Given the description of an element on the screen output the (x, y) to click on. 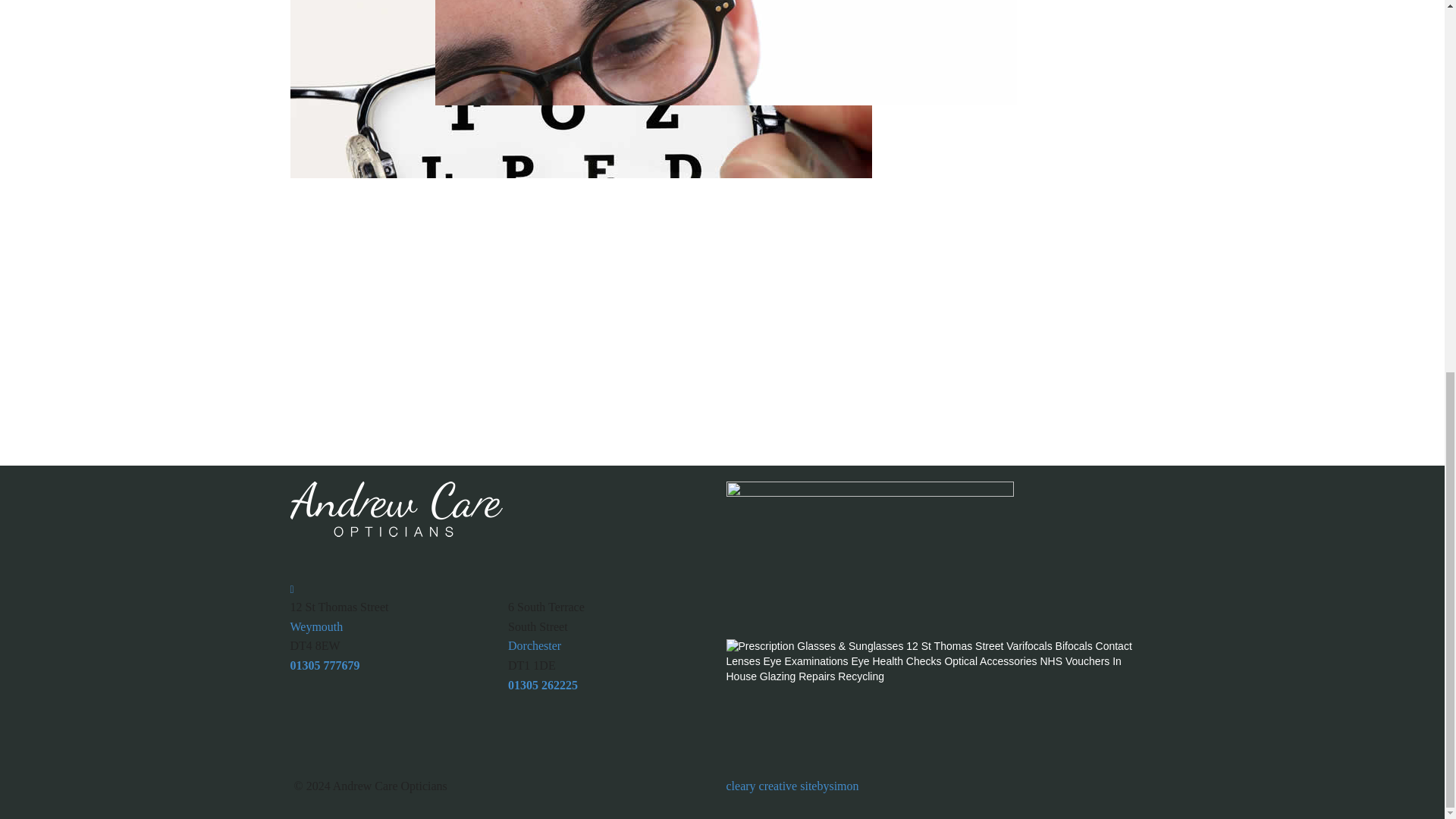
sitebysimon (829, 785)
cleary creative (761, 785)
01305 777679 (324, 665)
01305 262225 (543, 684)
